Given the description of an element on the screen output the (x, y) to click on. 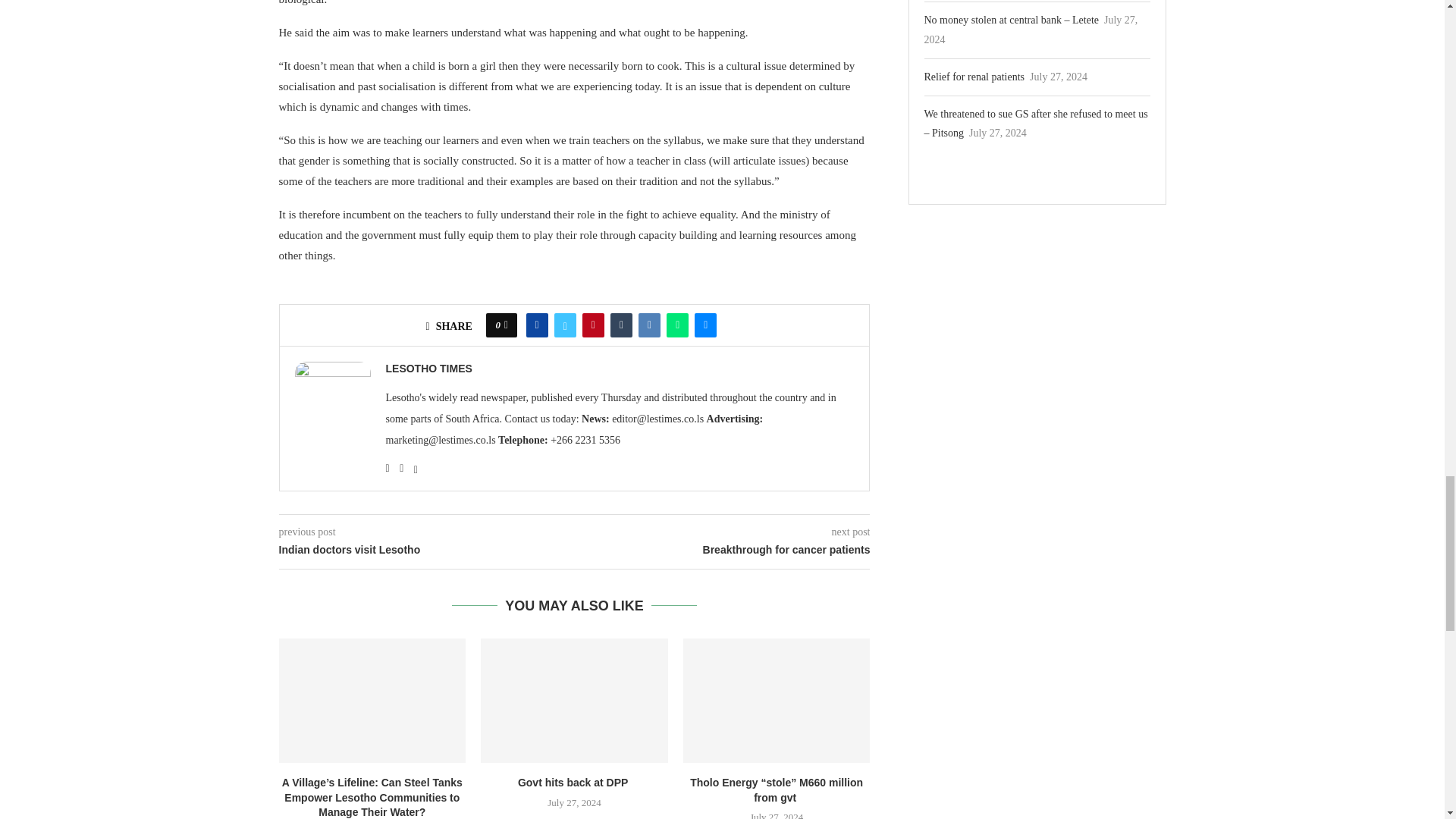
Author Lesotho Times (428, 368)
